Given the description of an element on the screen output the (x, y) to click on. 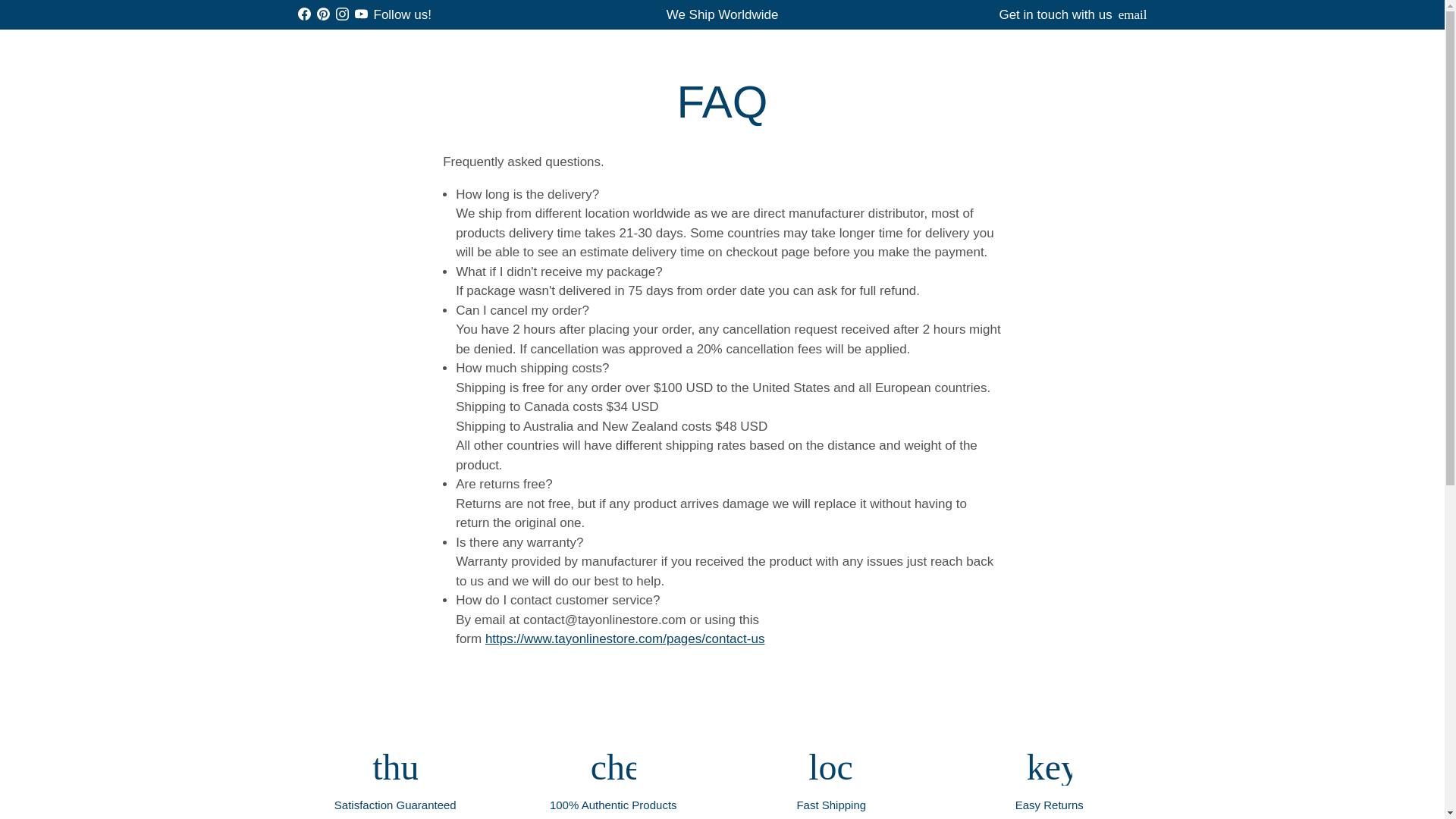
Search (924, 55)
TAY Online Store (383, 55)
email (1132, 14)
TAY Online Store on Facebook (303, 14)
Shop By Category (602, 31)
Cart (1089, 55)
TAY Online Store on Pinterest (323, 14)
Single Baby Strollers (558, 55)
Double Baby Strollers (695, 55)
